Given the description of an element on the screen output the (x, y) to click on. 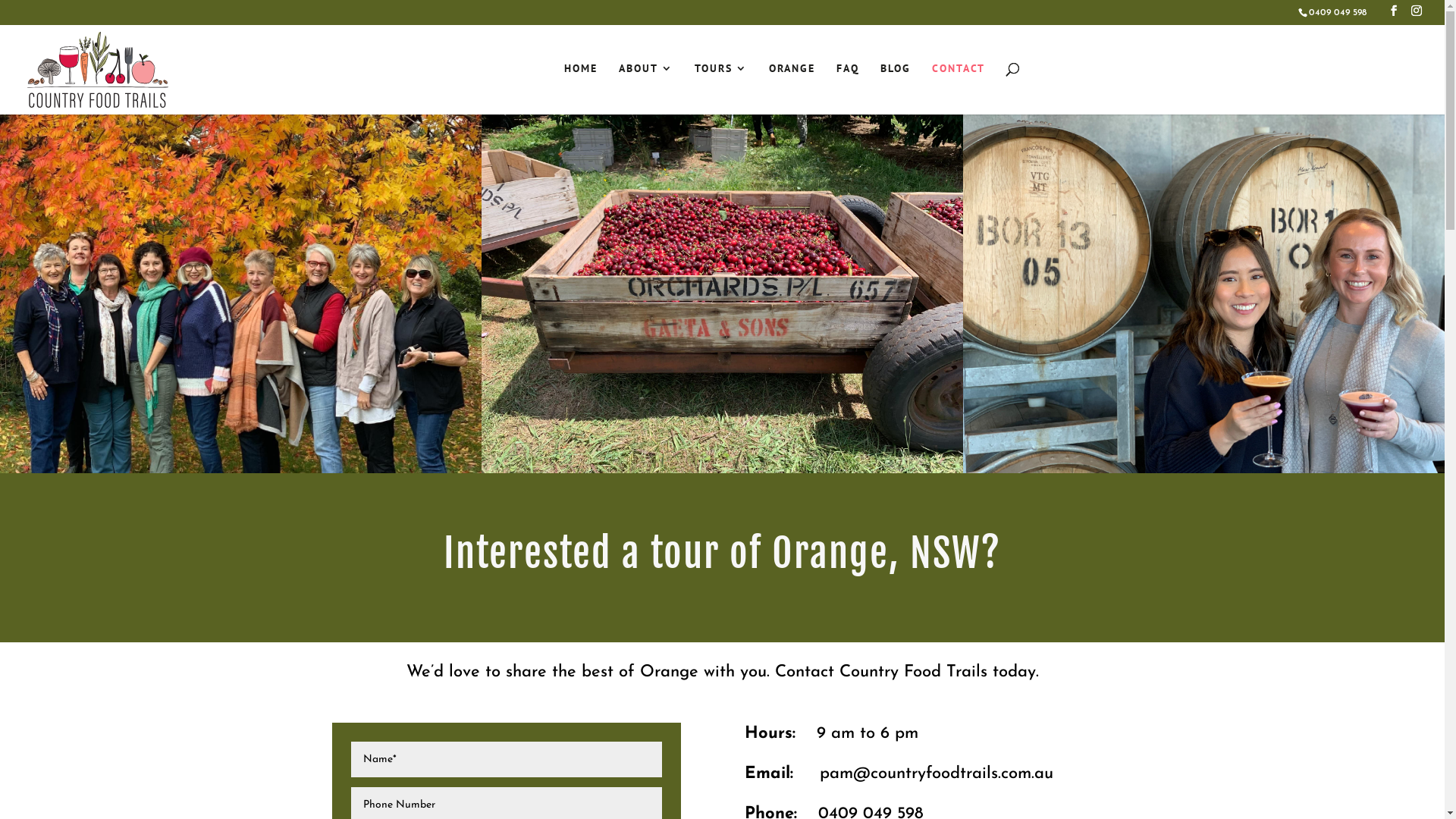
0409 049 598 Element type: text (1337, 12)
ABOUT Element type: text (645, 86)
best-tour-of-orange-nsw Element type: hover (240, 295)
pam@countryfoodtrails.com.au Element type: text (936, 773)
BLOG Element type: text (895, 86)
CONTACT Element type: text (958, 86)
FAQ Element type: text (847, 86)
HOME Element type: text (580, 86)
orange-wine-tour-nsw Element type: hover (1203, 294)
TOURS Element type: text (720, 86)
cherry-harvest-farm-trail-orange Element type: hover (722, 294)
ORANGE Element type: text (791, 86)
